Given the description of an element on the screen output the (x, y) to click on. 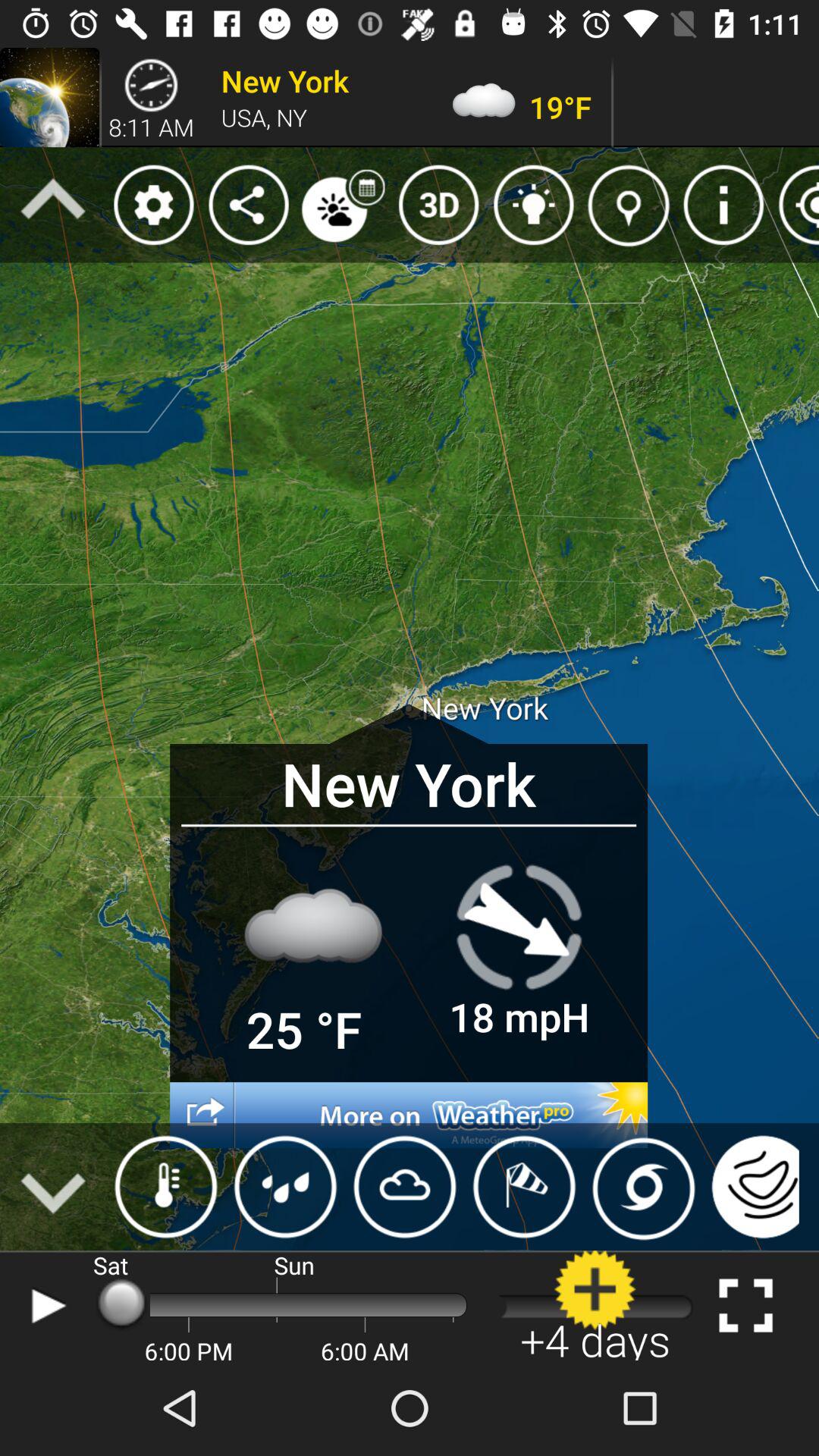
go to the 3d icon (438, 204)
click on the gps icon (795, 204)
go to the icon above sun (285, 1186)
select the icon which is in second line eight icon (723, 204)
select the seventh button below more on text (751, 1186)
select the button with text more on weatherpro (408, 1114)
select the icon which is to the immediate left of information icon (628, 204)
